Given the description of an element on the screen output the (x, y) to click on. 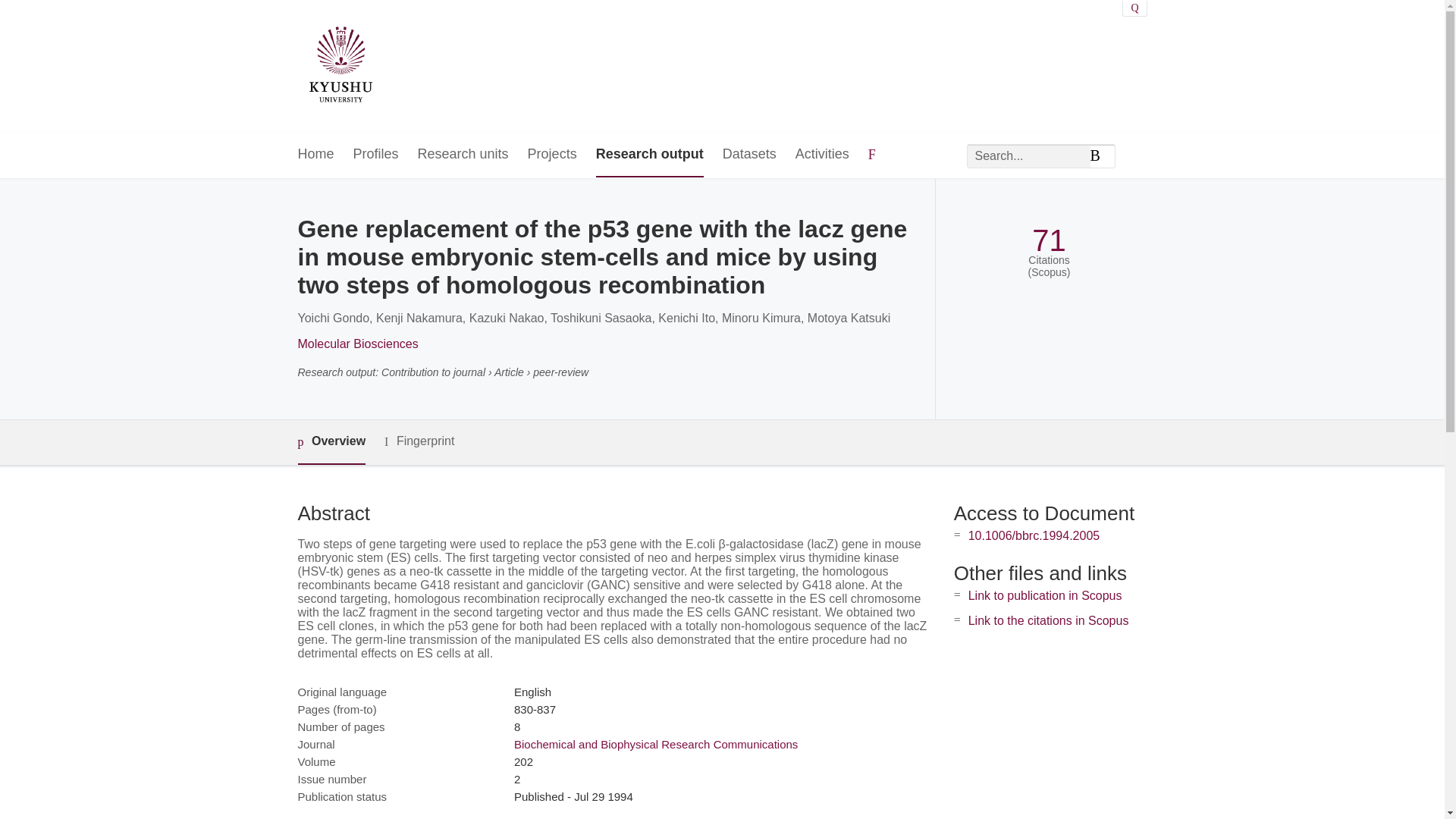
Research output (649, 154)
Datasets (749, 154)
Overview (331, 442)
Profiles (375, 154)
Biochemical and Biophysical Research Communications (655, 744)
Link to publication in Scopus (1045, 594)
Fingerprint (419, 441)
Activities (821, 154)
Research units (462, 154)
